Given the description of an element on the screen output the (x, y) to click on. 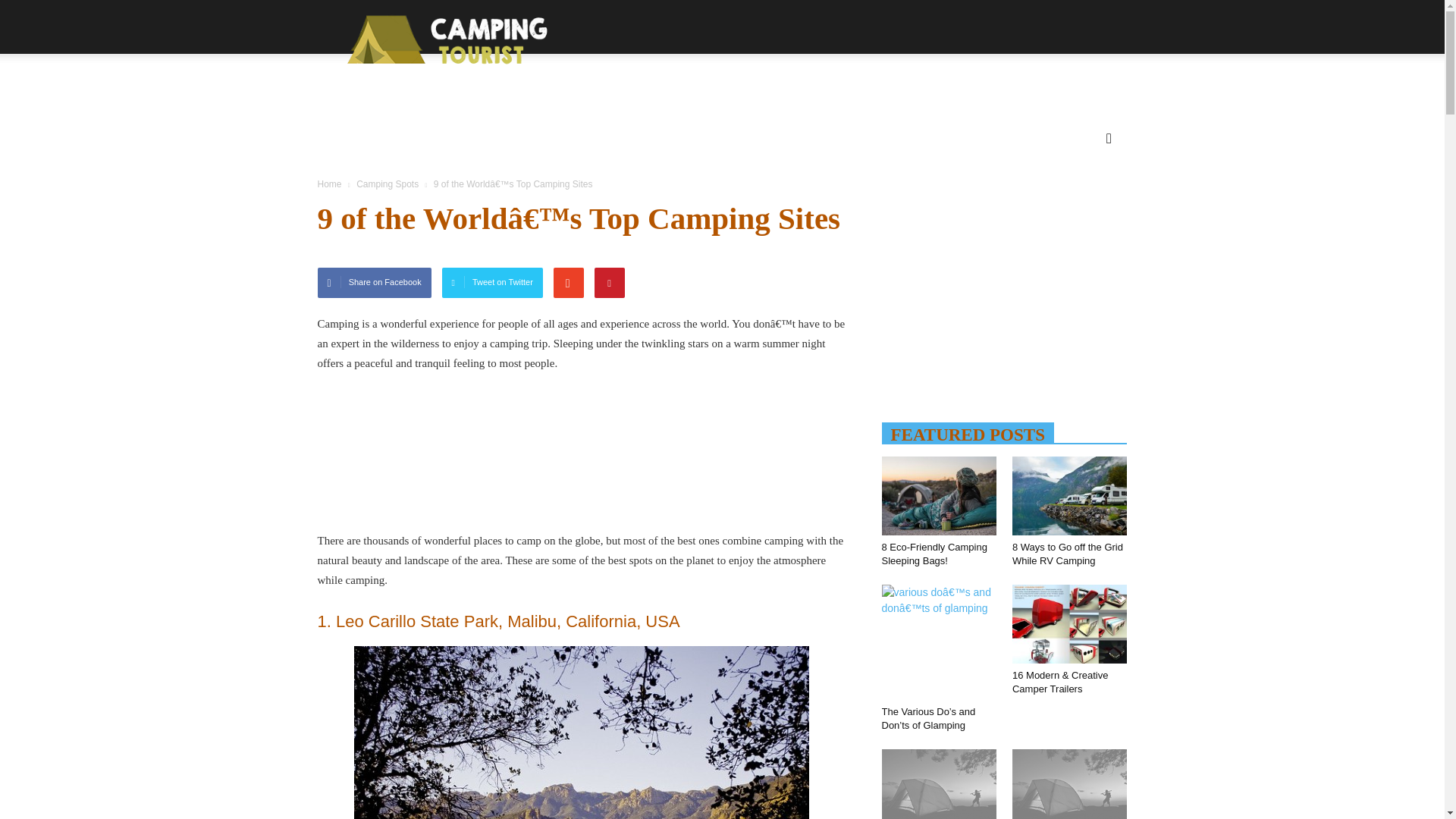
Advertisement (580, 458)
CAMPING GEAR (717, 130)
View all posts in Camping Spots (388, 184)
campingtourist.com (442, 40)
CAMPING TIPS (842, 130)
CAMPING SPOTS (585, 130)
CAMPING ACTIVITIES (426, 130)
Camping Tourist (442, 39)
